Given the description of an element on the screen output the (x, y) to click on. 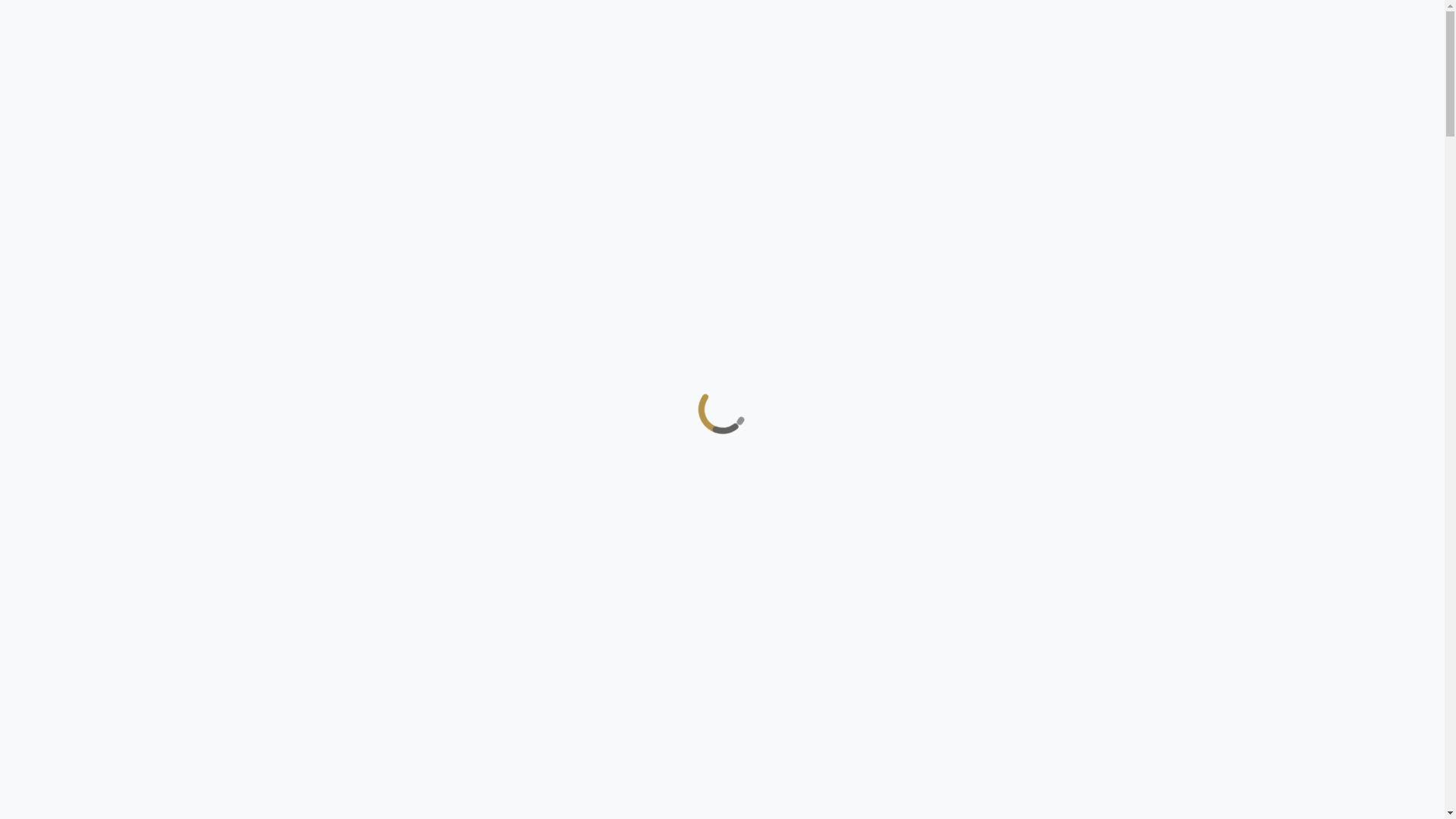
info@milonda.by Element type: text (48, 66)
